Given the description of an element on the screen output the (x, y) to click on. 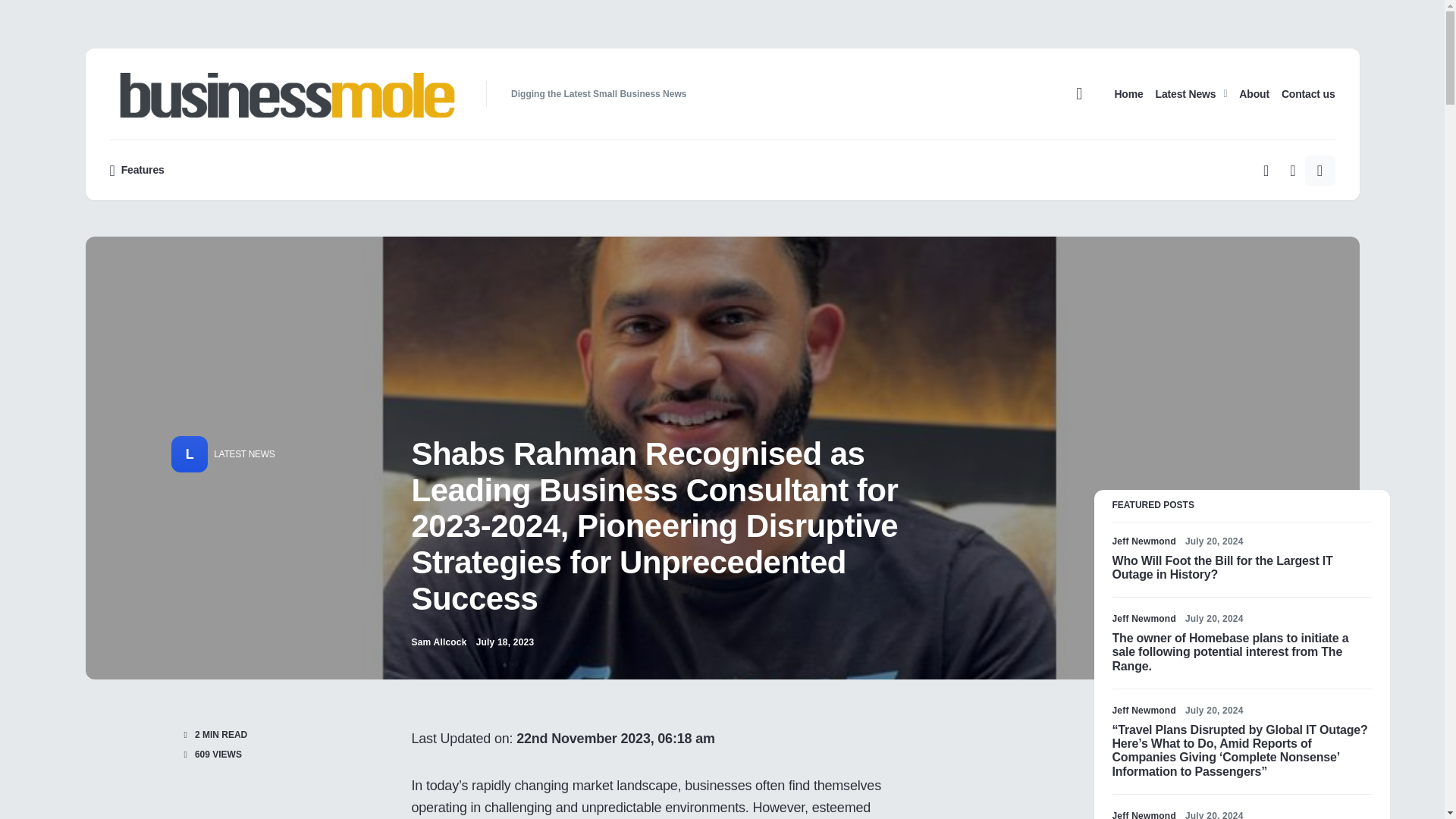
View all posts by Jeff Newmond (1143, 618)
View all posts by Jeff Newmond (1143, 814)
Latest News (1191, 93)
View all posts by Jeff Newmond (1143, 710)
View all posts by Jeff Newmond (1143, 540)
View all posts by Sam Allcock (437, 642)
